Given the description of an element on the screen output the (x, y) to click on. 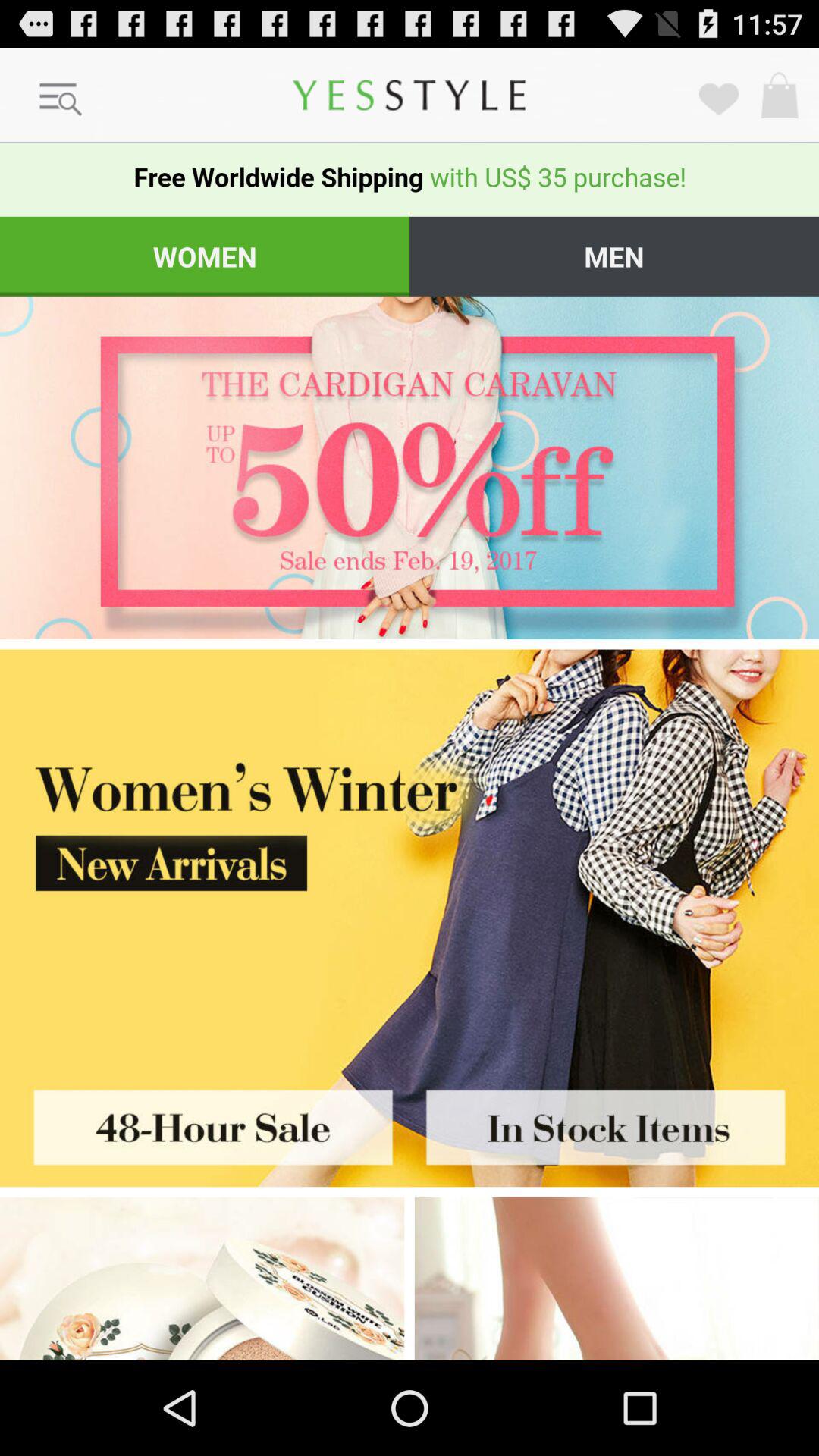
open new arrivals (409, 854)
